Given the description of an element on the screen output the (x, y) to click on. 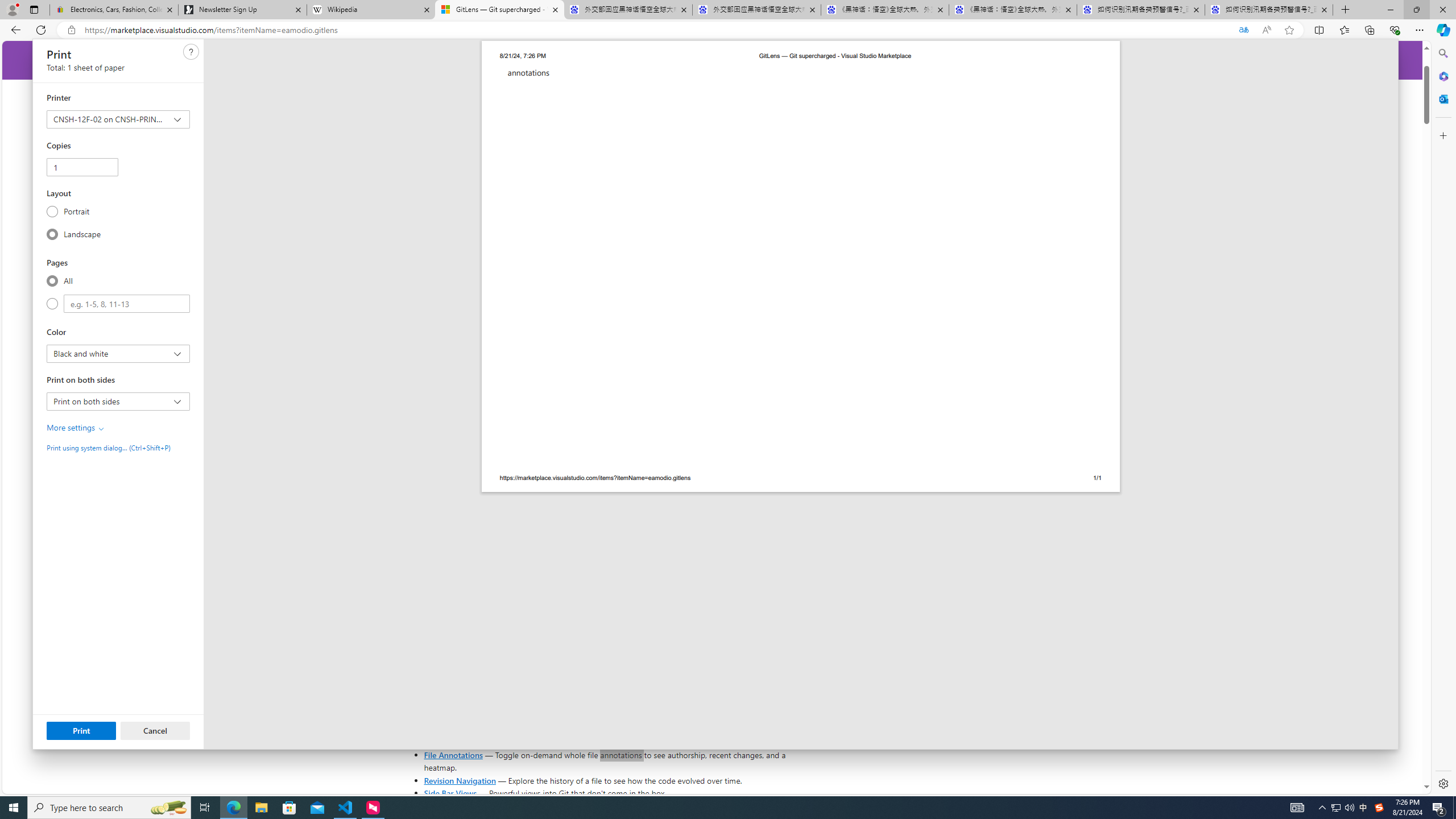
Custom (52, 303)
